Given the description of an element on the screen output the (x, y) to click on. 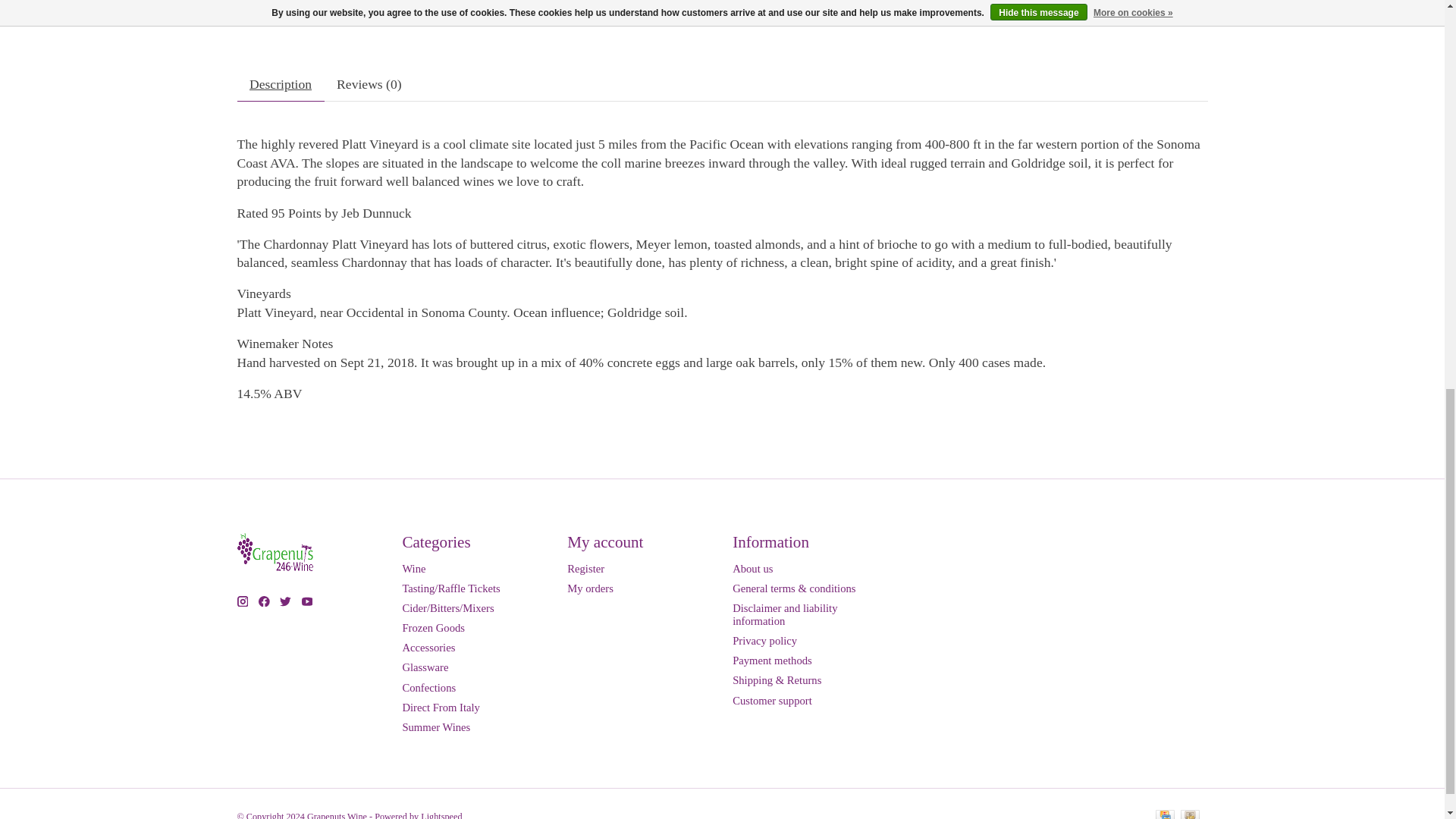
Register (585, 568)
Privacy policy (764, 640)
About us (752, 568)
Customer support (772, 700)
Disclaimer and liability information (784, 614)
Payment methods (772, 660)
My orders (589, 588)
